Given the description of an element on the screen output the (x, y) to click on. 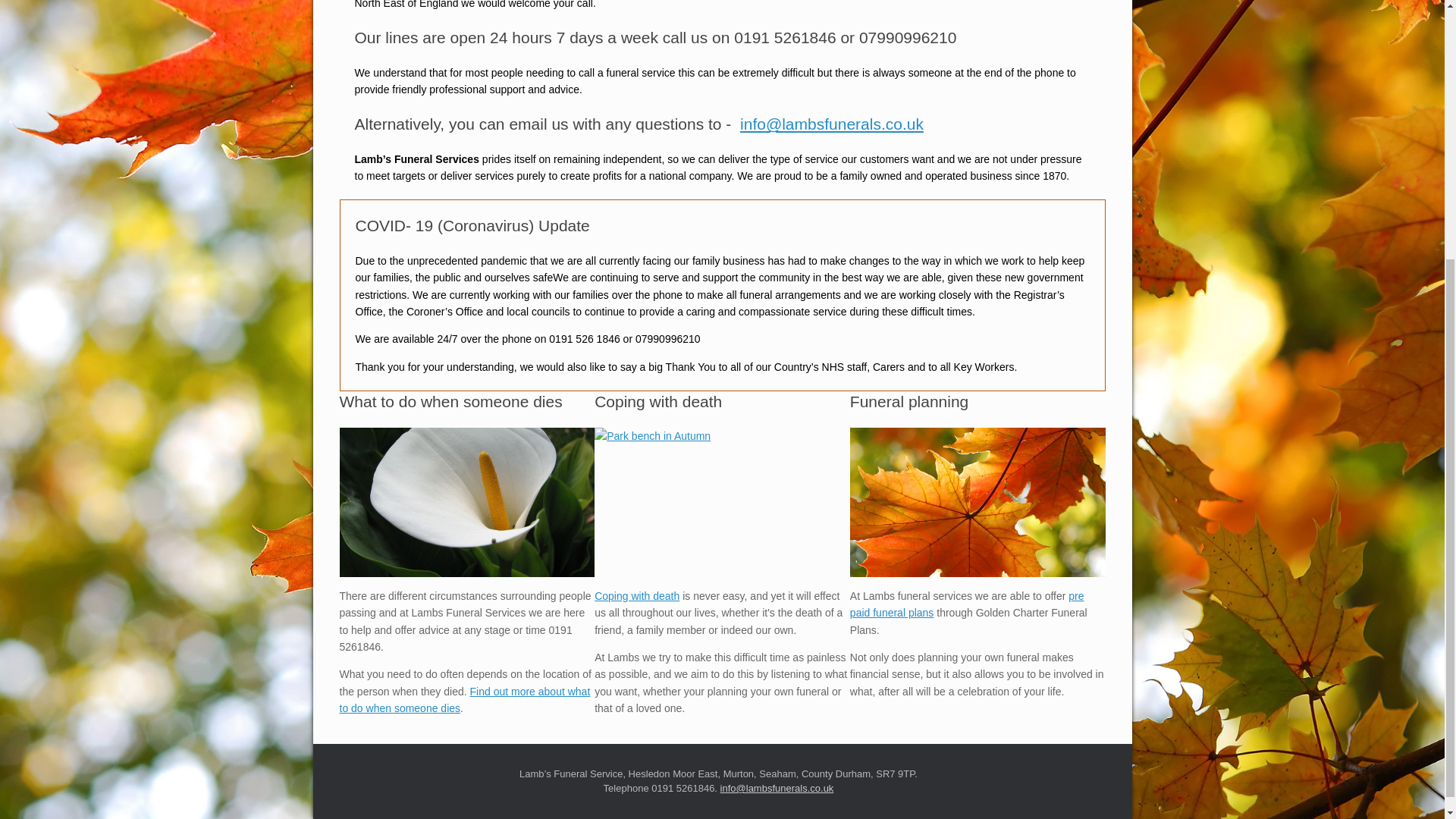
pre paid funeral plans (967, 604)
Find out more about what to do when someone dies (465, 699)
Coping with death (636, 595)
